Given the description of an element on the screen output the (x, y) to click on. 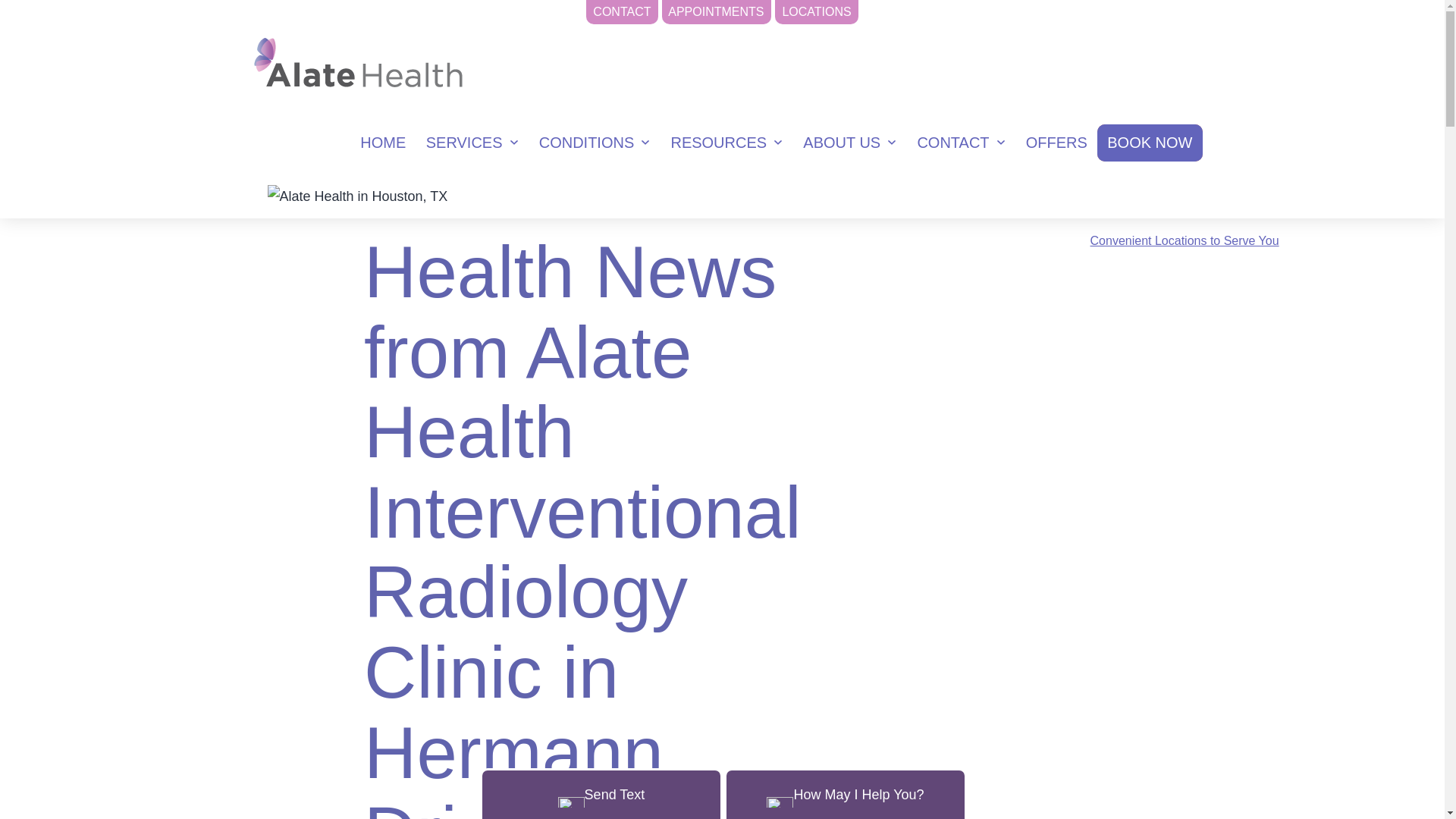
APPOINTMENTS (716, 12)
SERVICES (464, 142)
CONDITIONS (587, 142)
LOCATIONS (816, 12)
Open menu (649, 142)
Locations - Alate Health in Texas (1184, 181)
CONTACT (622, 12)
Alate Health in Houston, TX (356, 196)
HOME (382, 142)
Open menu (517, 142)
